Given the description of an element on the screen output the (x, y) to click on. 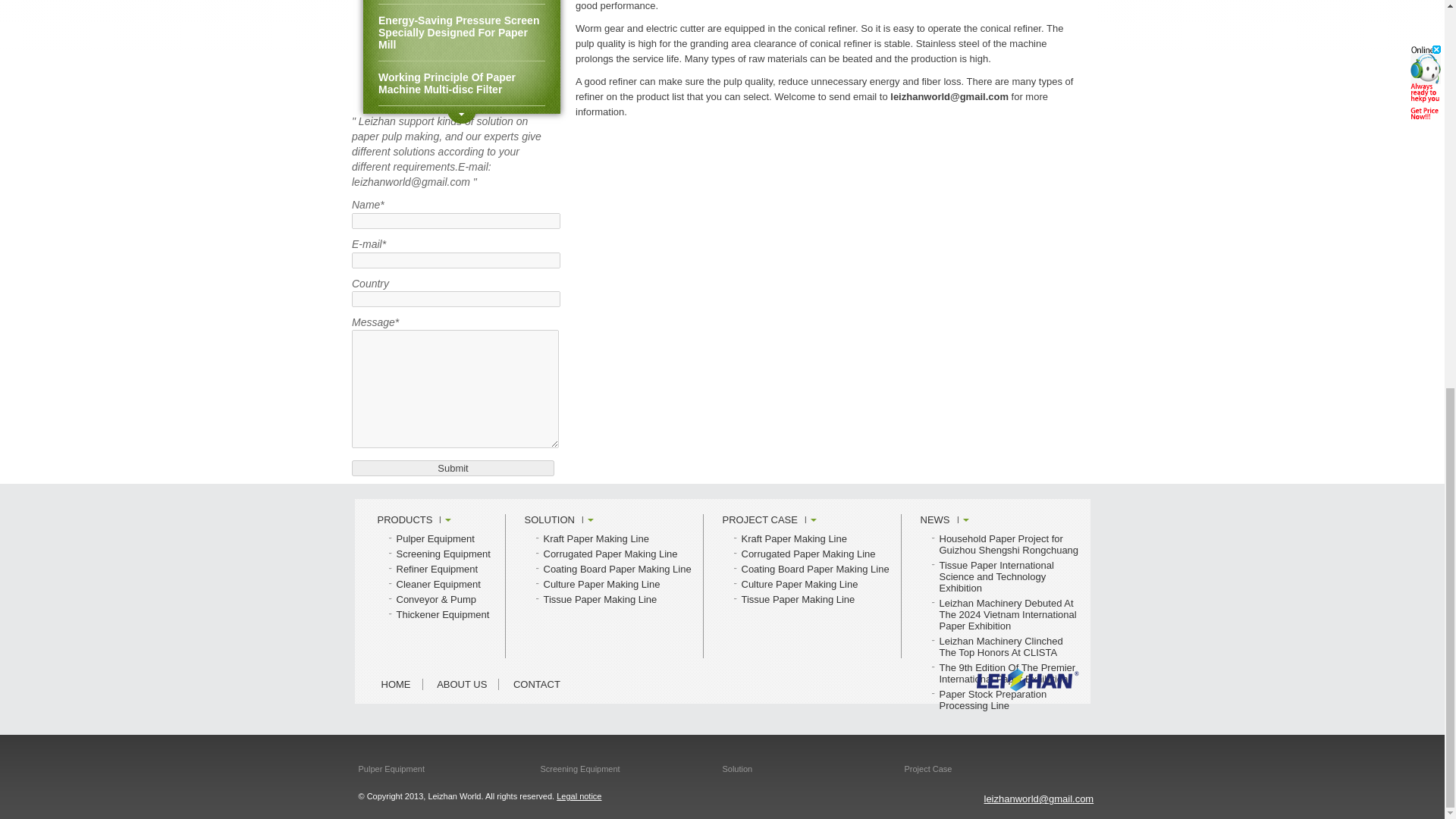
Submit (453, 467)
Daily 40T Toilet Paper Production Line (461, 2)
PRODUCTS (414, 519)
Submit (453, 467)
Working Principle Of Paper Machine Multi-disc Filter (461, 83)
